Given the description of an element on the screen output the (x, y) to click on. 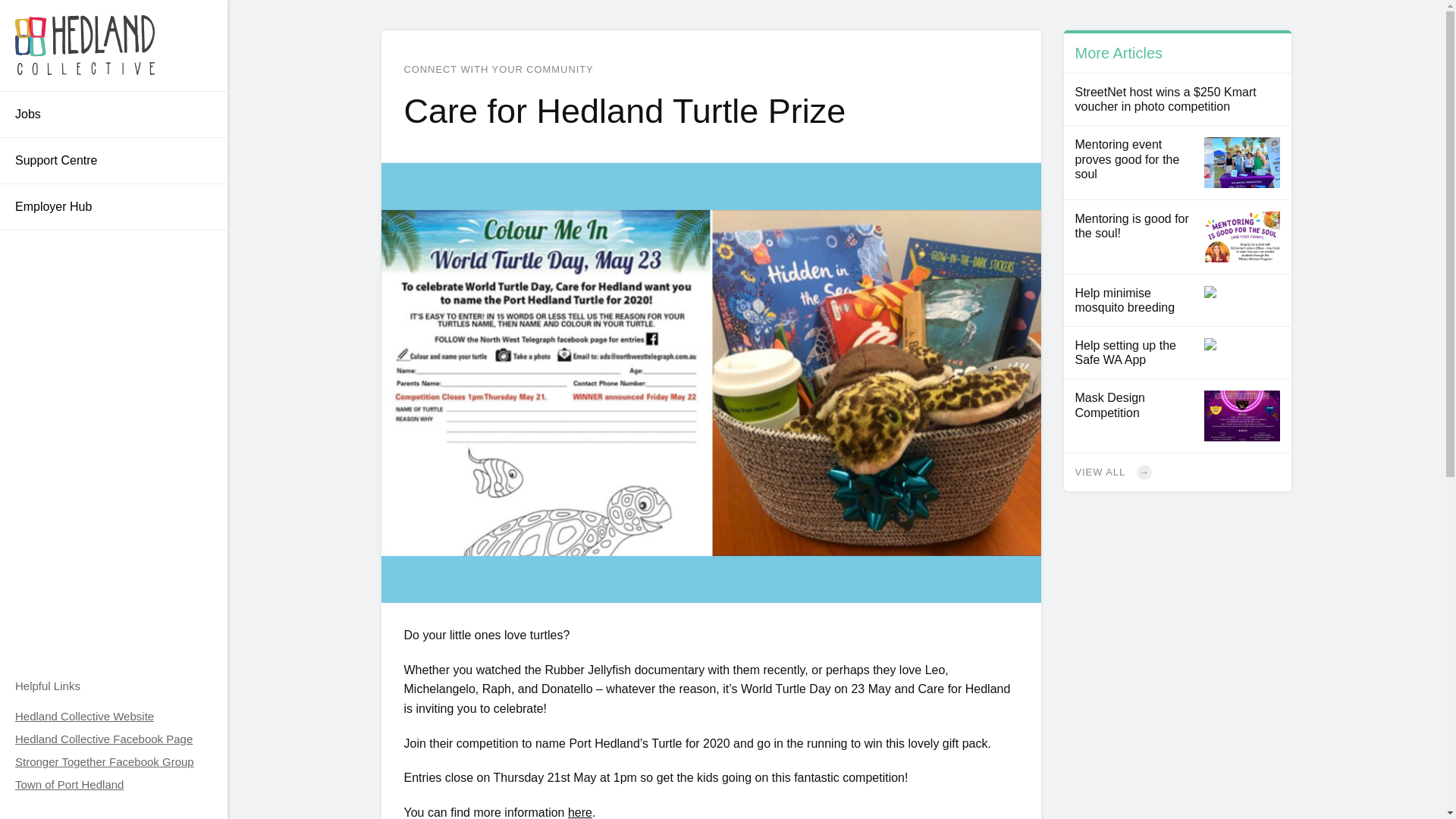
Mask Design Competition (1176, 415)
Hedland Collective - Stronger Together Community Board (84, 45)
here (579, 812)
Mentoring event proves good for the soul (1176, 162)
Support Centre (113, 161)
Connect With Your Community (1176, 472)
Mentoring event proves good for the soul (1176, 162)
Hedland Collective - Stronger Together Community Board (113, 45)
Stronger Together Facebook Group (103, 773)
CONNECT WITH YOUR COMMUNITY (497, 69)
Connect With Your Community (497, 69)
Hedland Collective Website (84, 716)
Mentoring is good for the soul! (1176, 236)
Help minimise mosquito breeding (1176, 300)
Help setting up the Safe WA App (1176, 352)
